Given the description of an element on the screen output the (x, y) to click on. 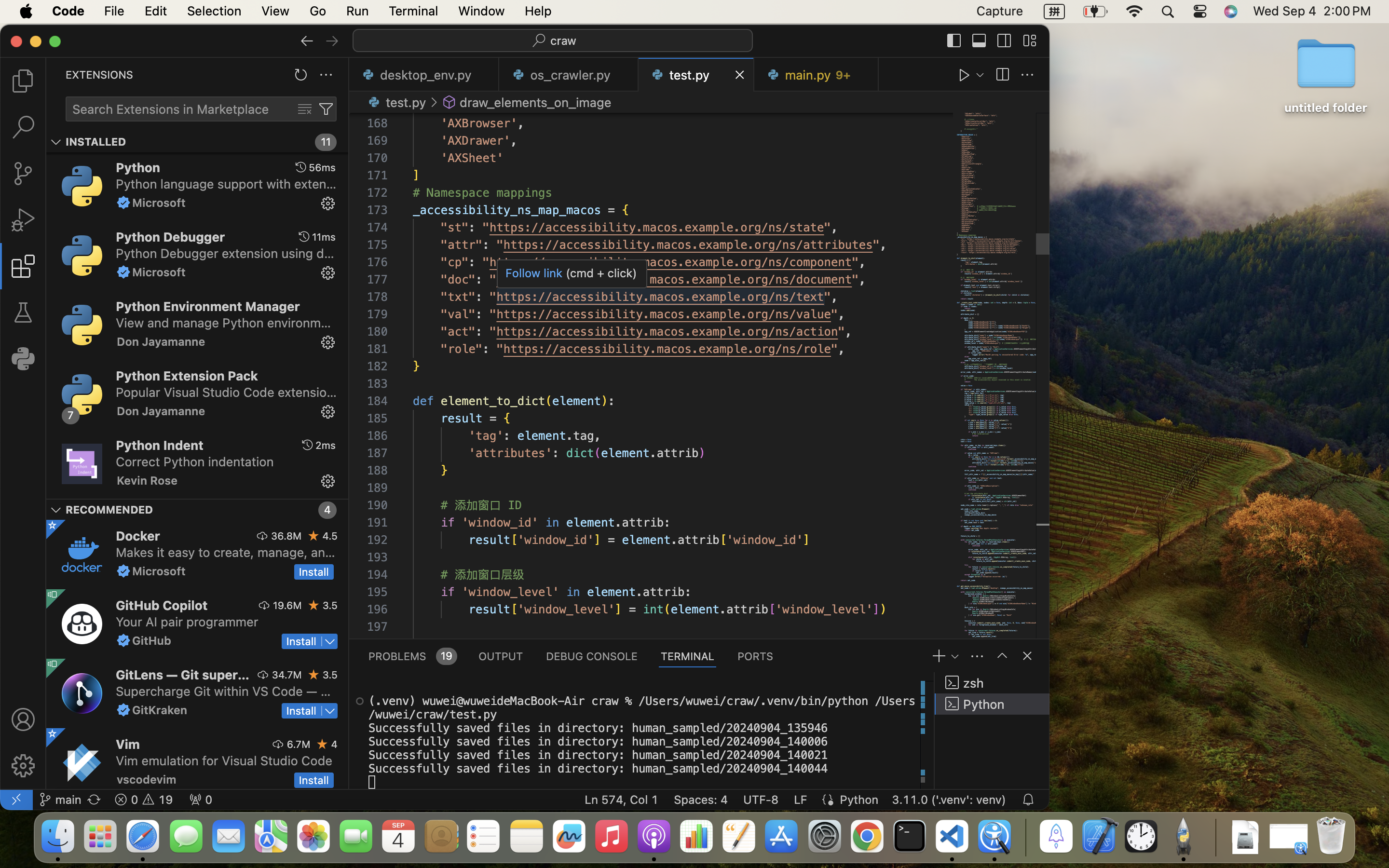
Popular Visual Studio Code extensions for Python Element type: AXStaticText (226, 391)
0.4285714328289032 Element type: AXDockItem (1024, 836)
 Element type: AXButton (1028, 40)
 Element type: AXStaticText (123, 202)
 Element type: AXButton (307, 40)
